Given the description of an element on the screen output the (x, y) to click on. 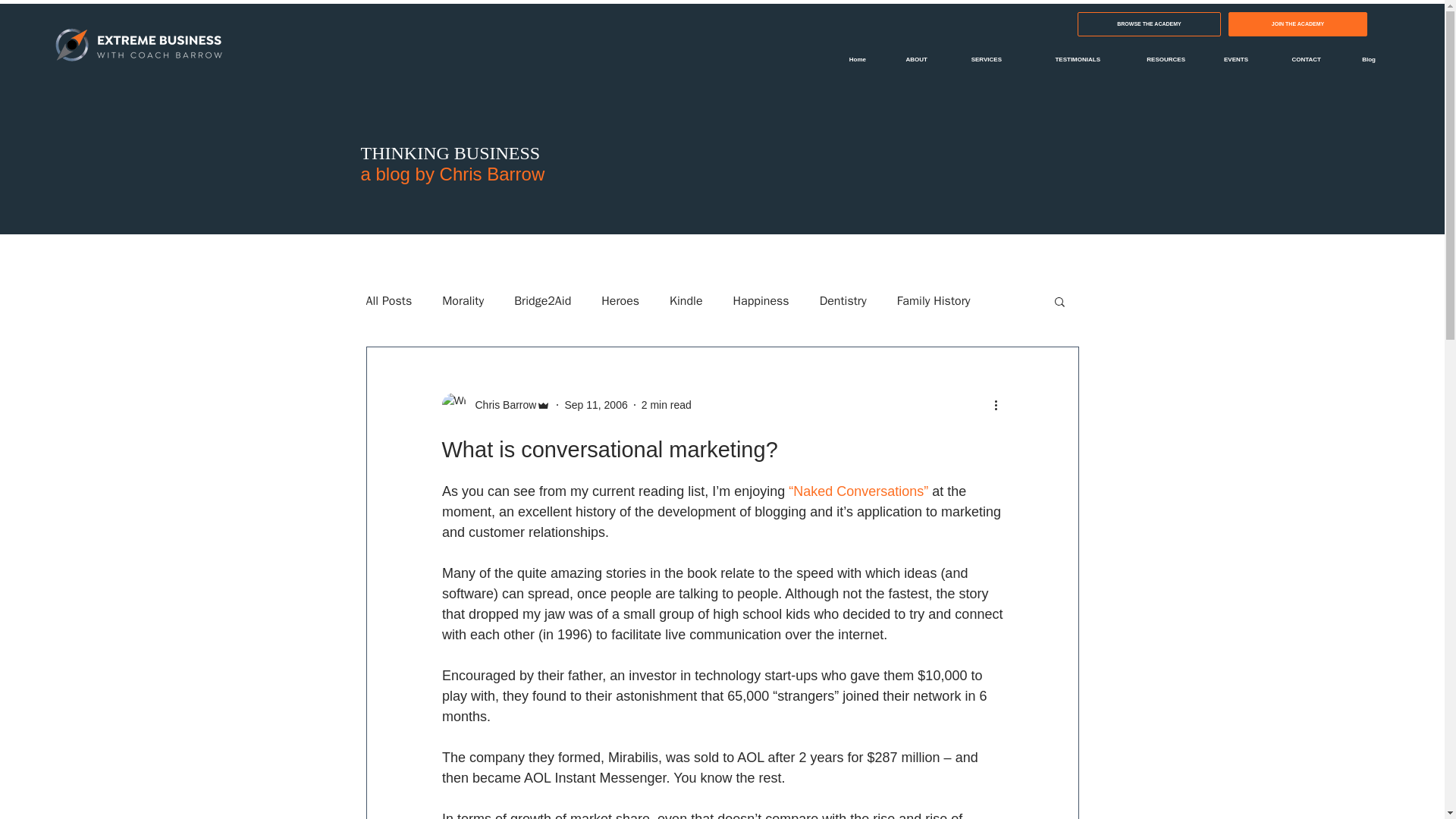
BROWSE THE ACADEMY (1149, 24)
Heroes (620, 300)
TESTIMONIALS (1062, 59)
CONTACT (1295, 59)
Kindle (685, 300)
Dentistry (842, 300)
2 min read (666, 404)
JOIN THE ACADEMY (1297, 24)
Bridge2Aid (541, 300)
Morality (462, 300)
